Given the description of an element on the screen output the (x, y) to click on. 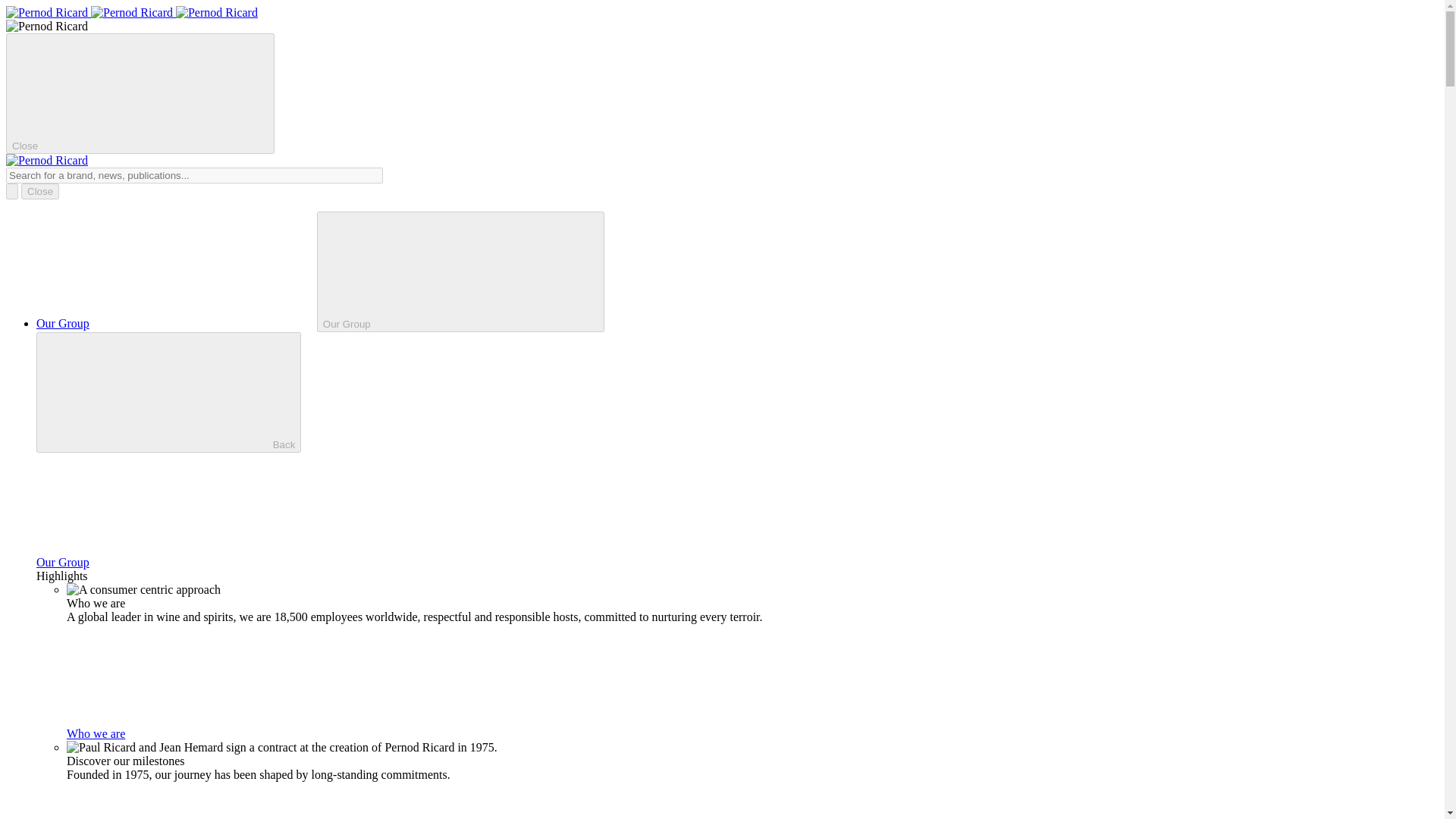
Close (40, 191)
Our Group (460, 271)
Back (168, 392)
Close (140, 93)
Who we are (209, 733)
Our Group (176, 562)
Search (193, 175)
Our Group (176, 323)
Close (40, 191)
Close (40, 191)
